Given the description of an element on the screen output the (x, y) to click on. 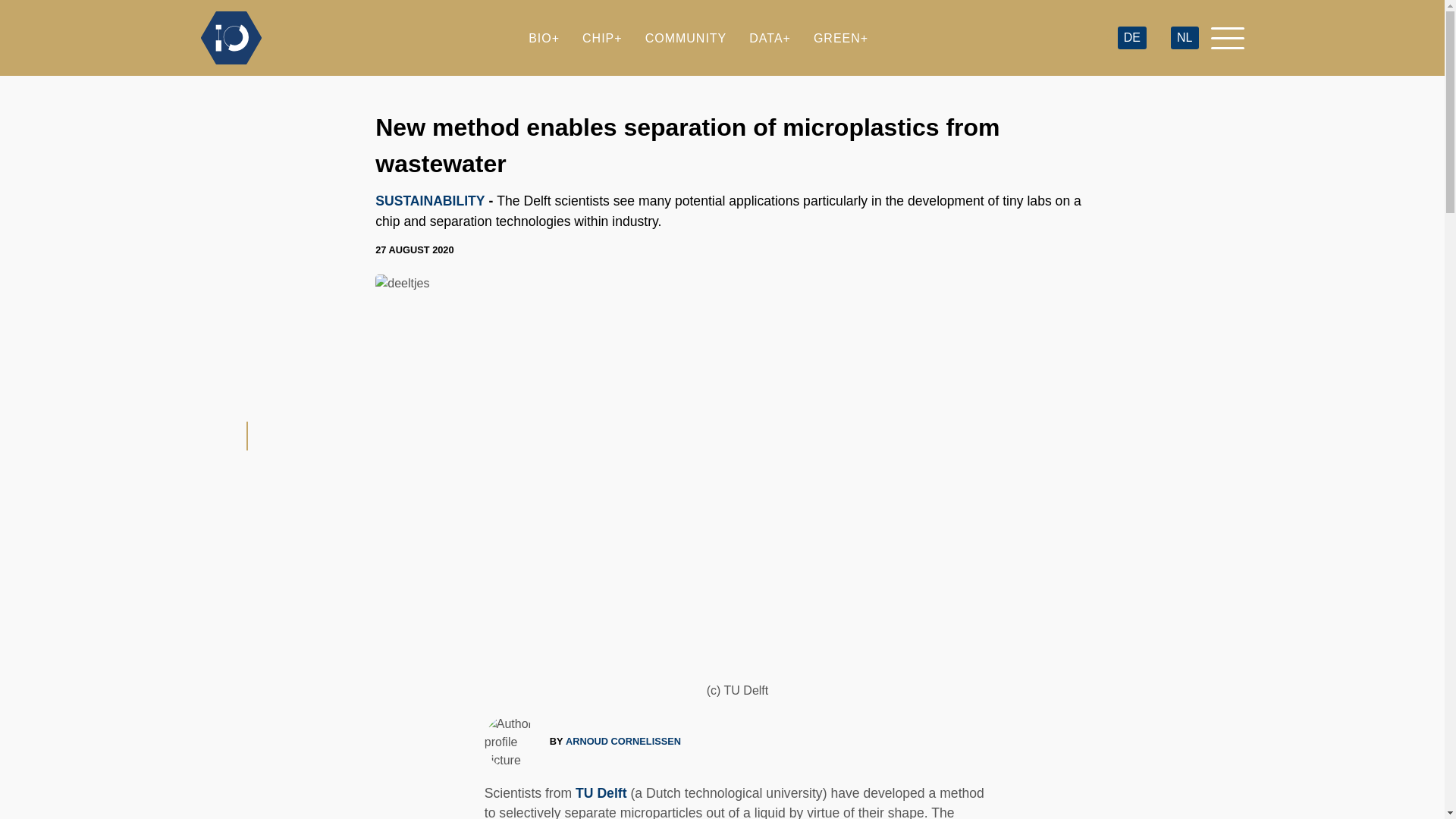
COMMUNITY (685, 38)
SUSTAINABILITY (429, 200)
TU Delft (600, 792)
DE (1132, 37)
ARNOUD CORNELISSEN (623, 740)
NL (1184, 37)
